Given the description of an element on the screen output the (x, y) to click on. 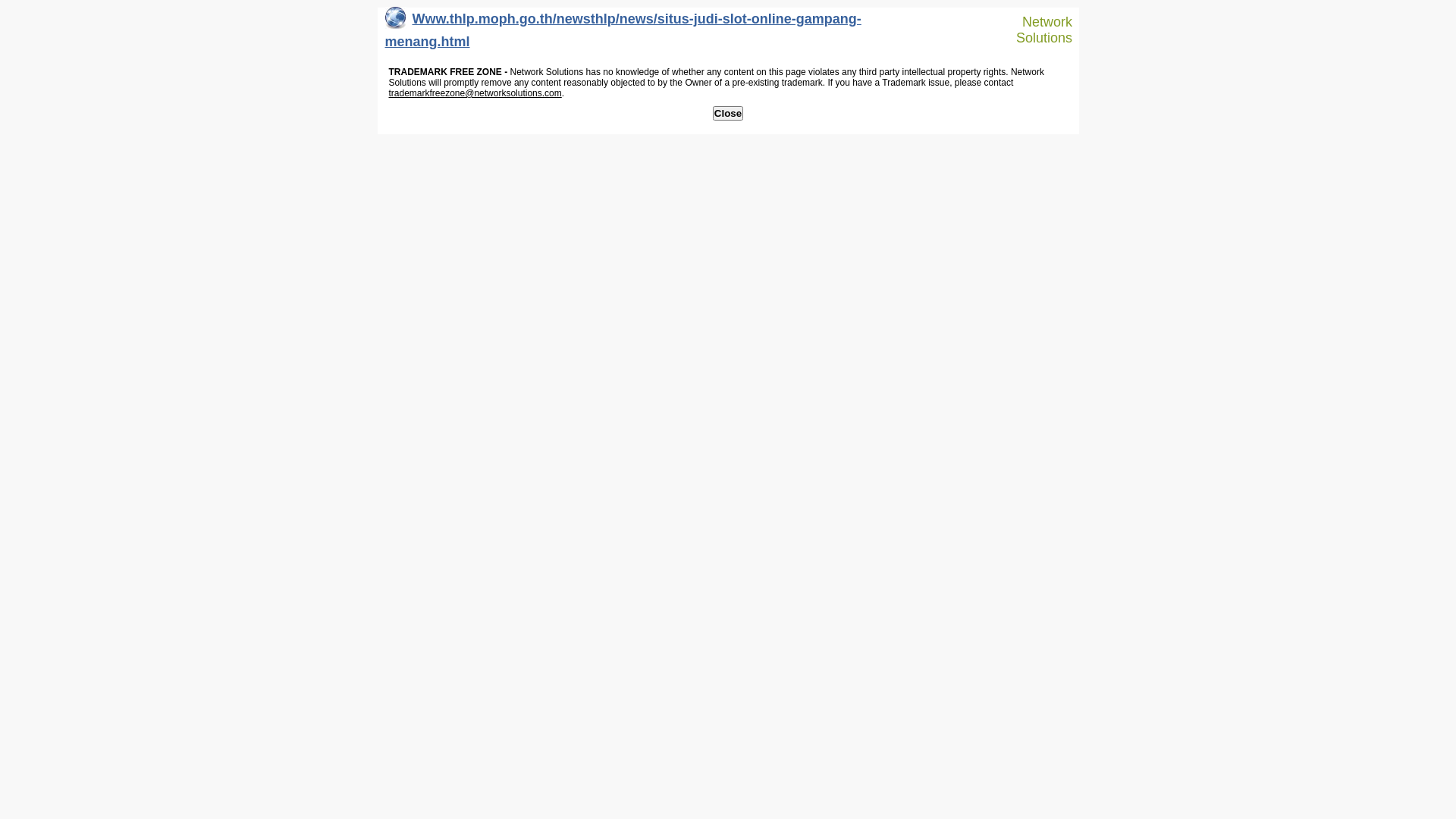
Close Element type: text (727, 113)
trademarkfreezone@networksolutions.com Element type: text (474, 92)
Network Solutions Element type: text (1037, 29)
